Given the description of an element on the screen output the (x, y) to click on. 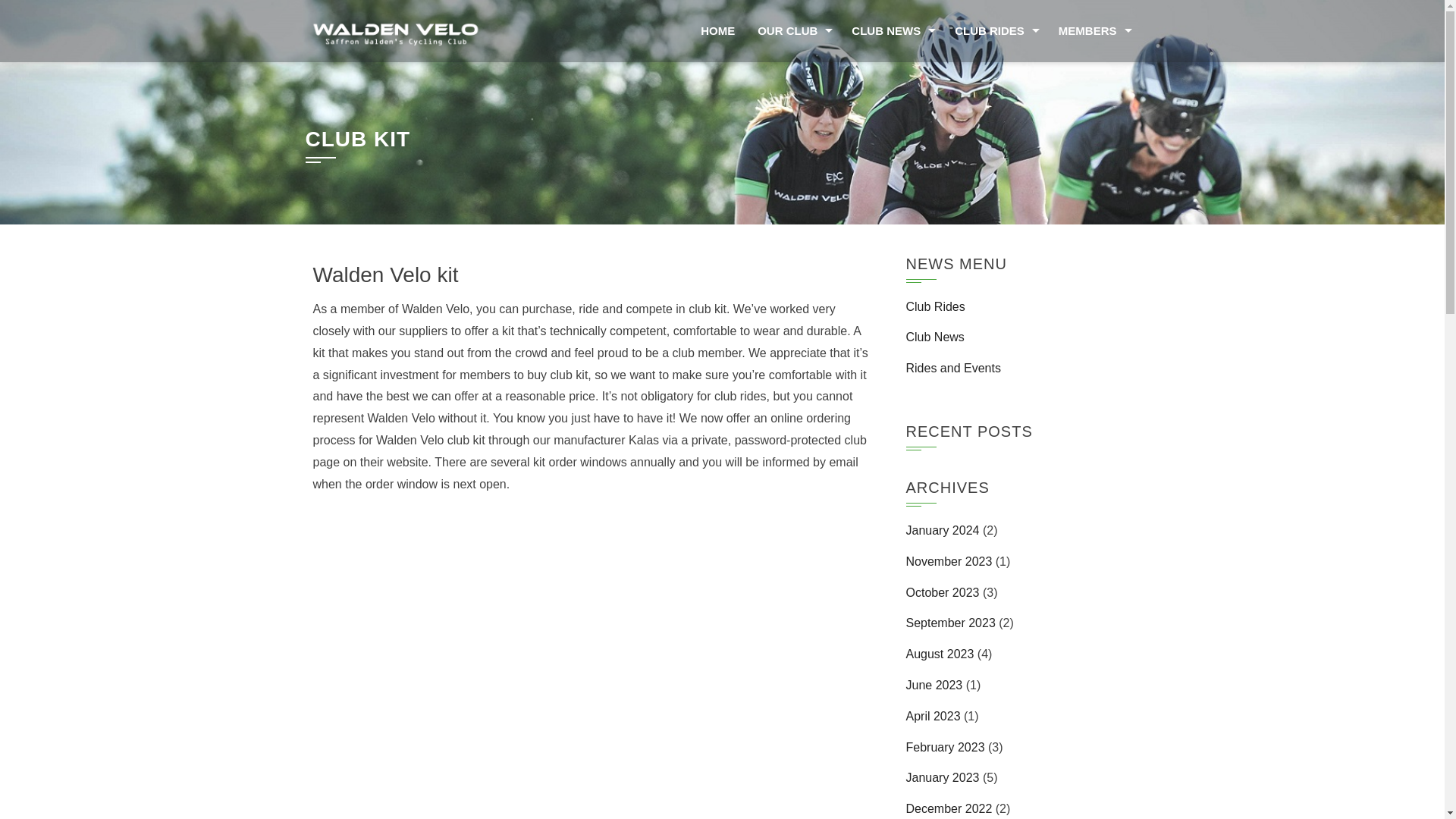
CLUB RIDES (994, 31)
OUR CLUB (792, 31)
CLUB NEWS (891, 31)
February 2023 (944, 747)
HOME (716, 31)
January 2023 (941, 777)
November 2023 (948, 561)
Club Rides (934, 306)
Rides and Events (952, 367)
Club News (934, 336)
